Given the description of an element on the screen output the (x, y) to click on. 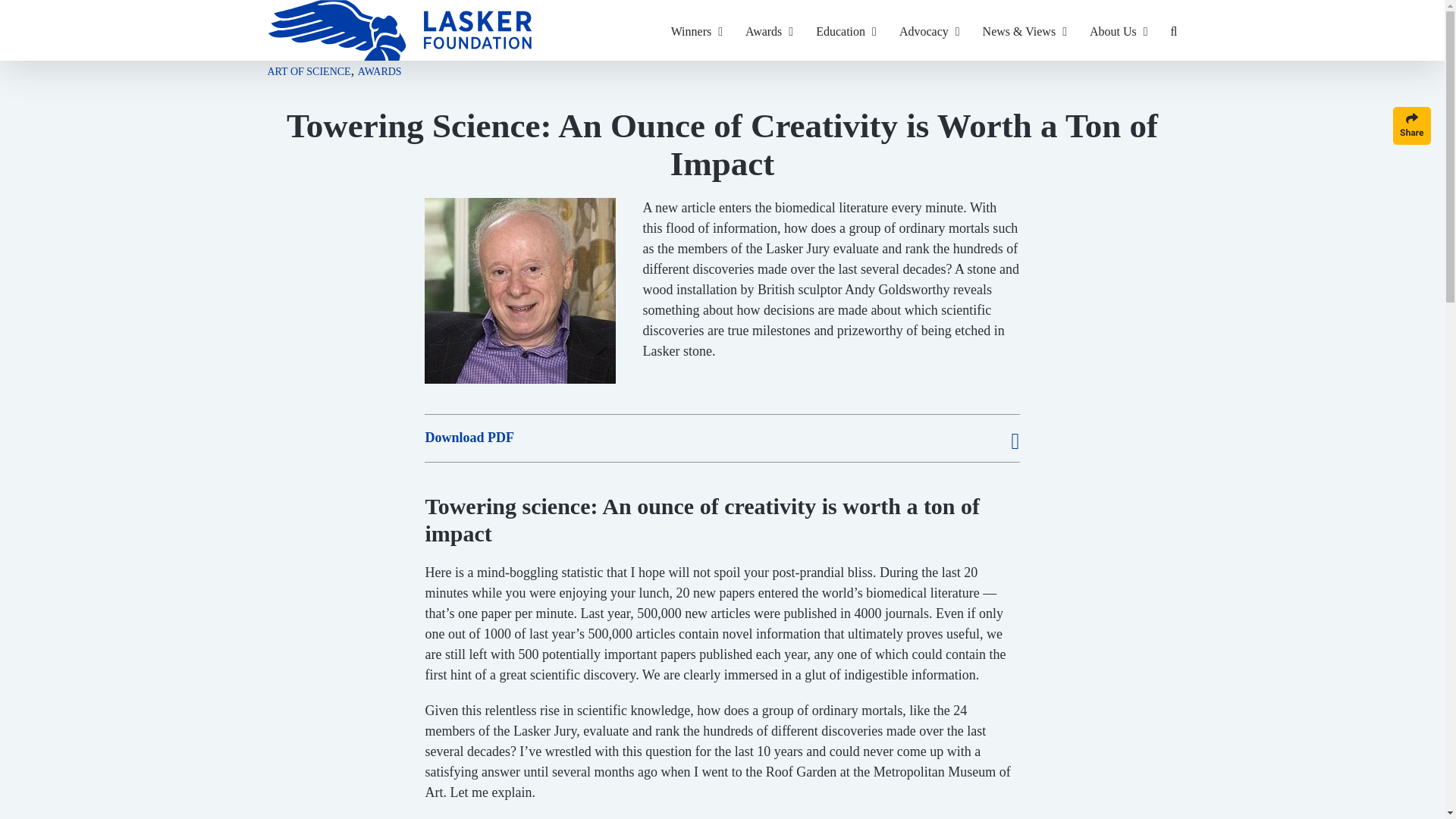
Advocacy (929, 30)
Education (845, 30)
About Us (1118, 30)
